Given the description of an element on the screen output the (x, y) to click on. 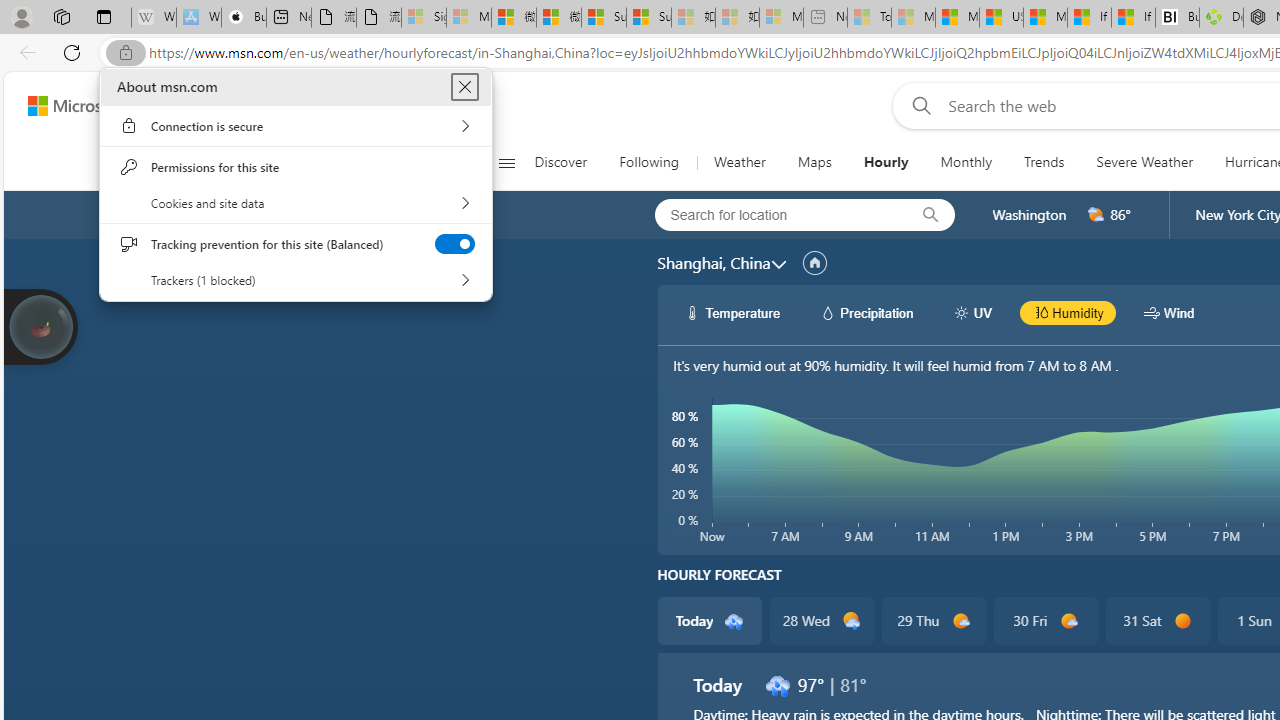
Monthly (966, 162)
Sign in to your Microsoft account - Sleeping (423, 17)
d2100 (851, 621)
Permissions for this site (296, 167)
Trackers (1 blocked) (296, 280)
Weather (738, 162)
Hourly (886, 162)
Marine life - MSN - Sleeping (913, 17)
Monthly (966, 162)
locationBar/search (930, 215)
hourlyChart/precipitationWhite (828, 312)
Microsoft account | Account Checkup - Sleeping (781, 17)
